Given the description of an element on the screen output the (x, y) to click on. 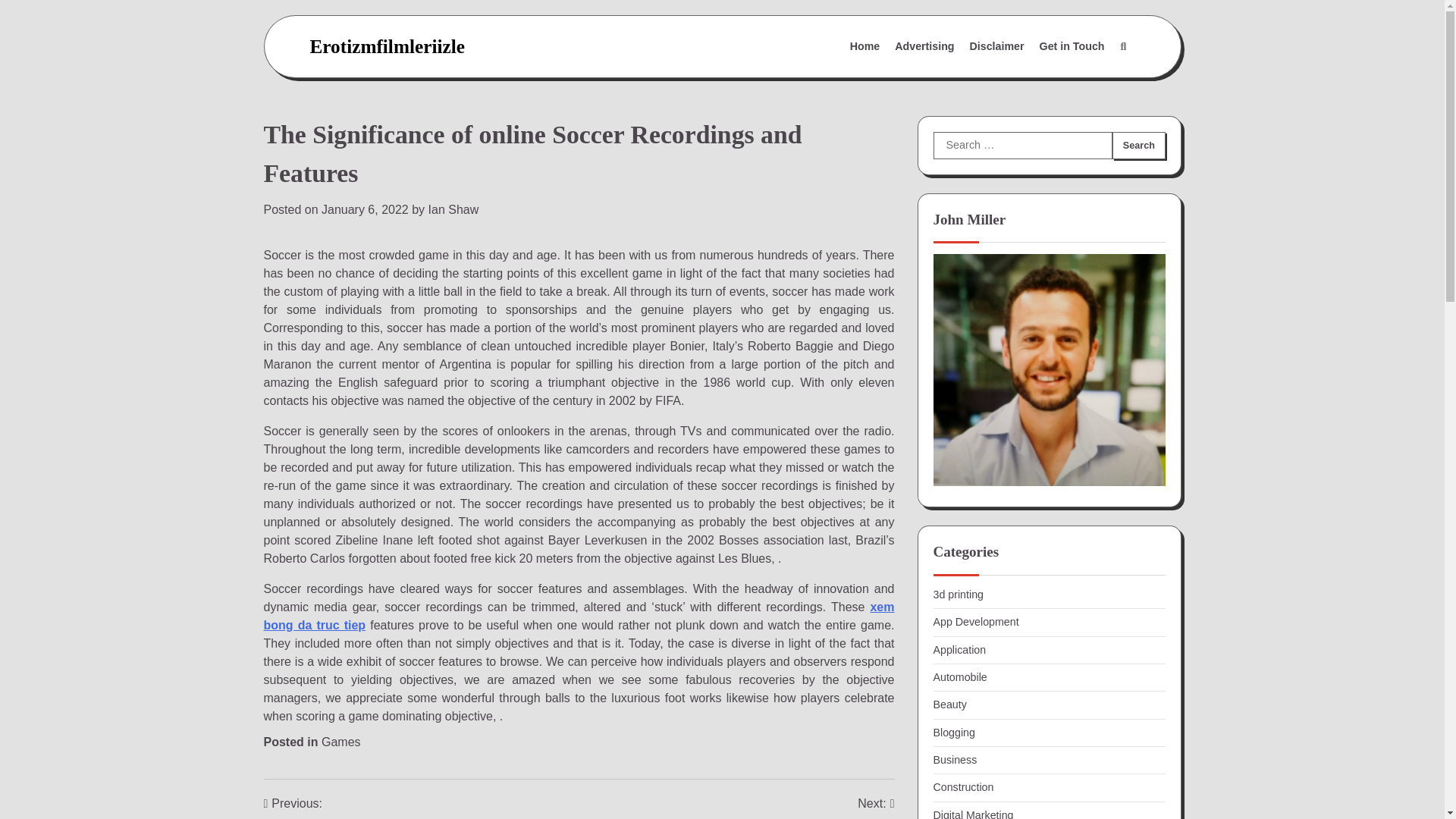
Ian Shaw (453, 209)
App Development (975, 621)
Games (341, 741)
Search (1138, 144)
Home (865, 46)
3d printing (957, 594)
Disclaimer (997, 46)
Blogging (759, 806)
Digital Marketing (953, 732)
Get in Touch (973, 814)
Erotizmfilmleriizle (1072, 46)
Search (386, 46)
Advertising (1138, 144)
Construction (923, 46)
